Given the description of an element on the screen output the (x, y) to click on. 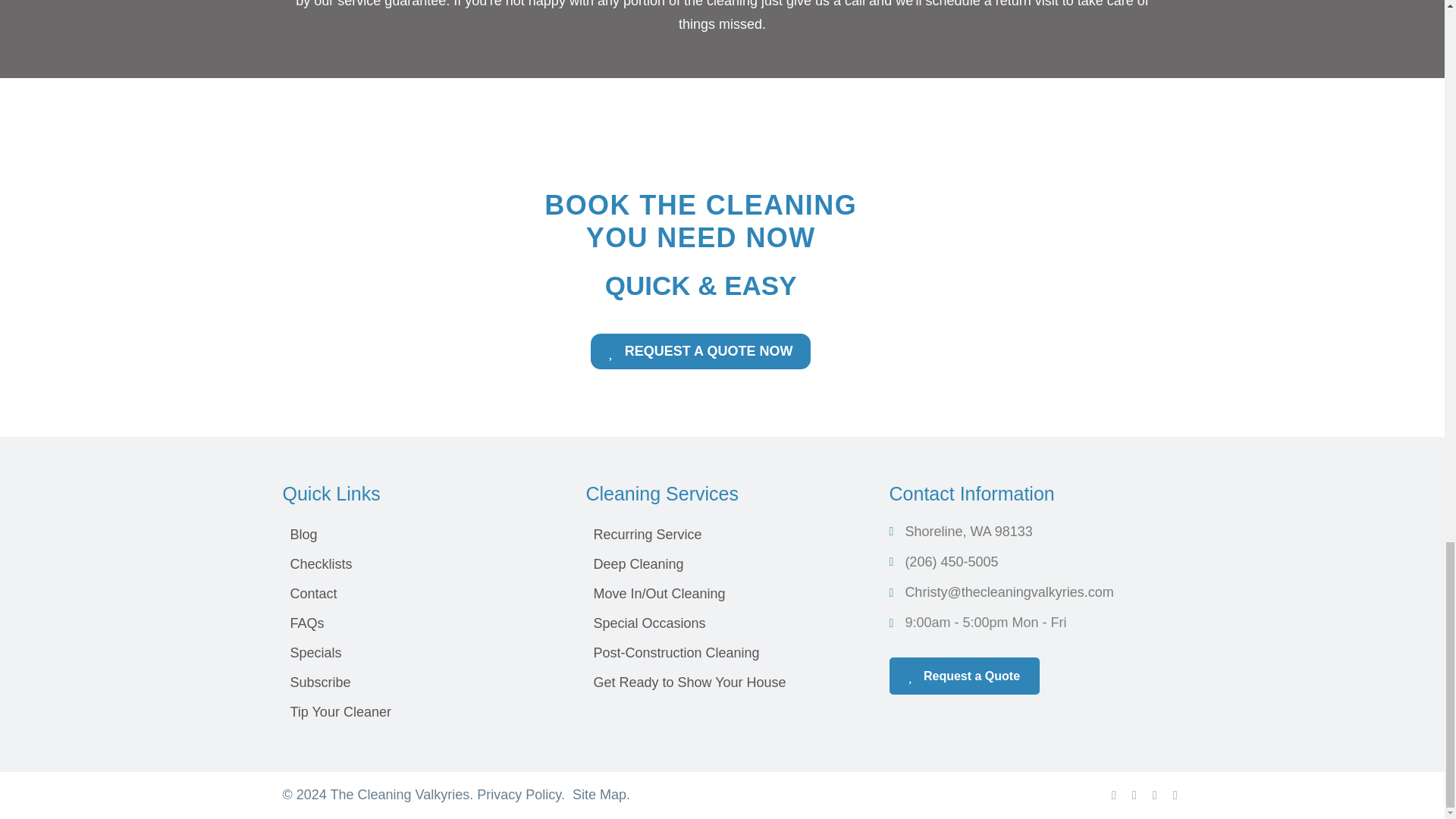
Subscribe (418, 682)
Deep Cleaning (722, 563)
Contact (418, 593)
Tip Your Cleaner (418, 711)
Specials (418, 652)
Checklists (418, 563)
FAQs (418, 623)
Blog (418, 534)
Recurring Service (722, 534)
REQUEST A QUOTE NOW (700, 350)
